Given the description of an element on the screen output the (x, y) to click on. 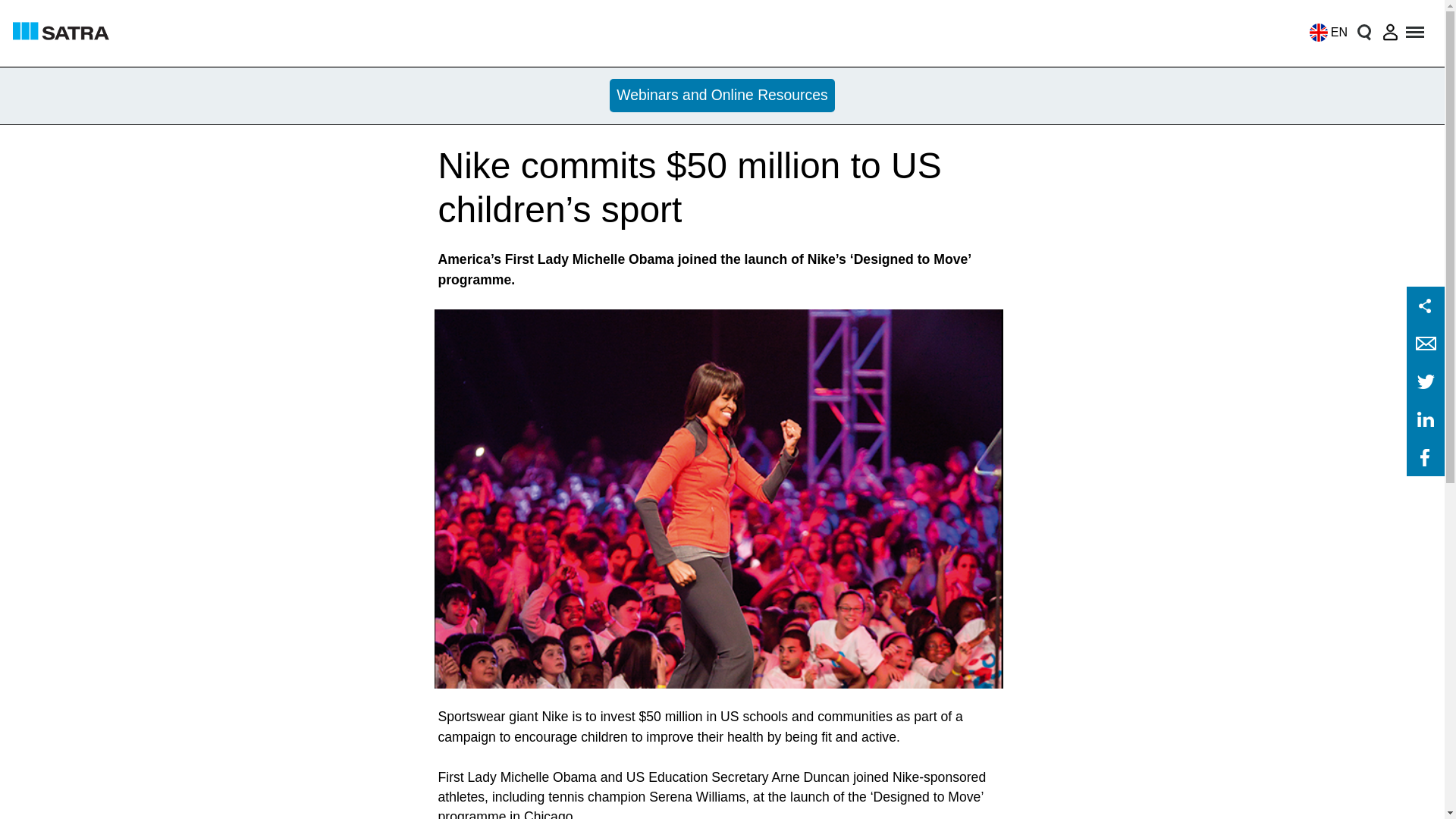
EN (1324, 32)
Change language (1324, 32)
Search this site (1363, 32)
Webinars and Online Resources (722, 95)
Navigation menu (1415, 32)
